Given the description of an element on the screen output the (x, y) to click on. 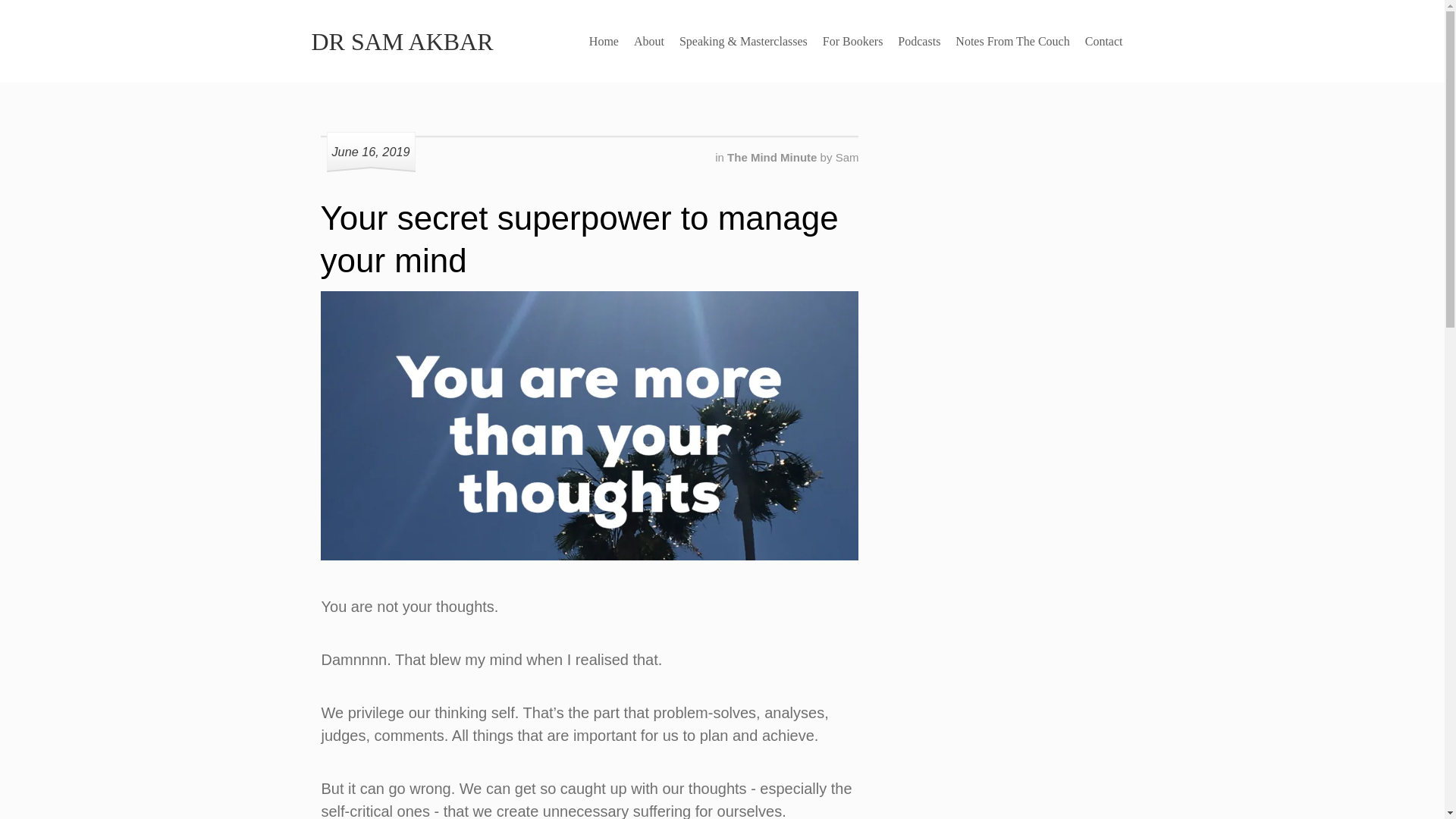
The Mind Minute (773, 156)
Sam (847, 156)
About (648, 41)
For Bookers (853, 41)
Contact (1104, 41)
Home (603, 41)
Notes From The Couch (1012, 41)
Your secret superpower to manage your mind (579, 239)
DR SAM AKBAR (402, 40)
